Given the description of an element on the screen output the (x, y) to click on. 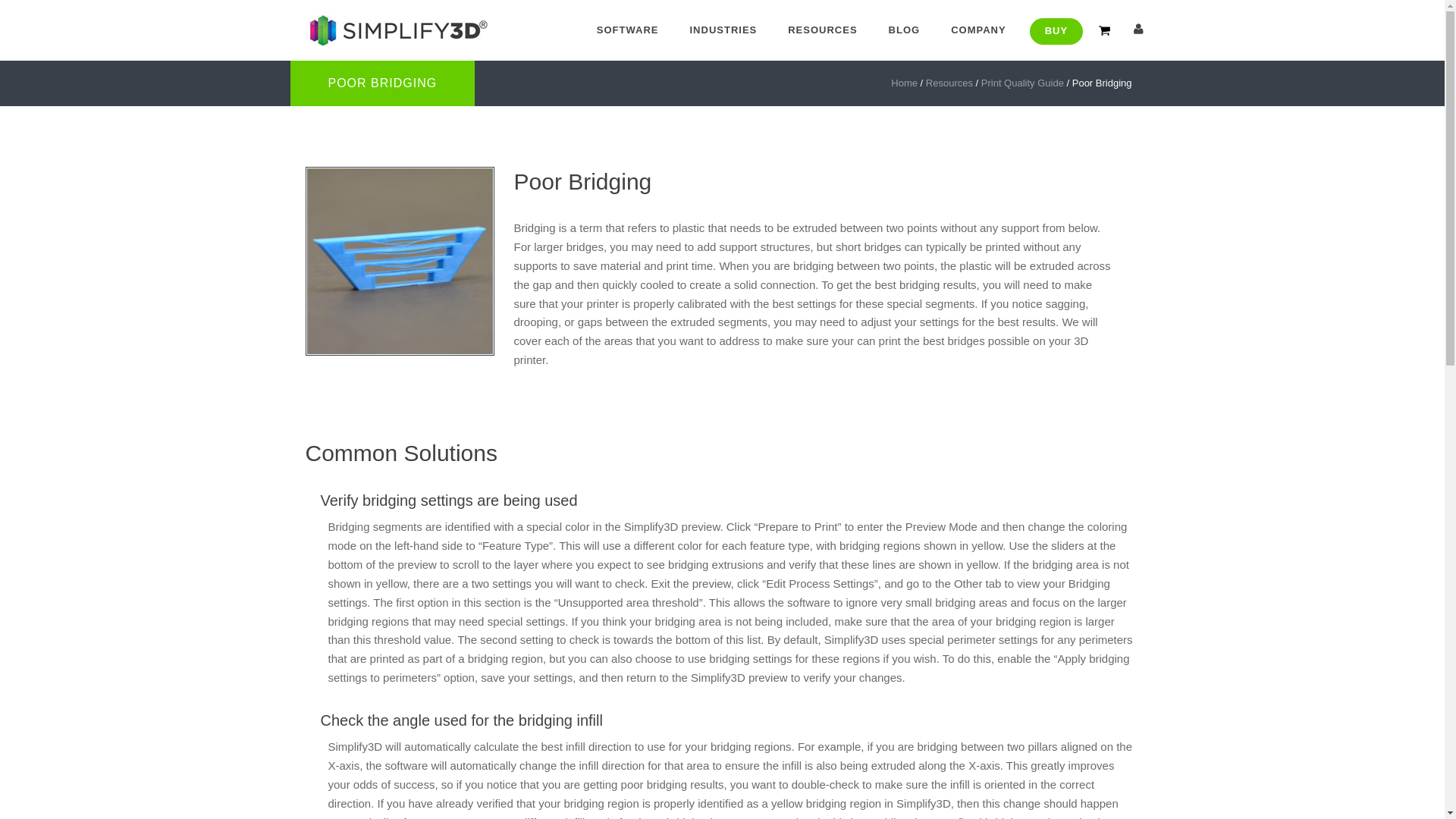
INDUSTRIES (724, 30)
RESOURCES (822, 30)
COMPANY (978, 30)
poor-bridging-1024x1024 (398, 261)
BUY (1056, 31)
All-In-One 3D Printing Software (395, 30)
SOFTWARE (627, 30)
SOFTWARE (627, 30)
RESOURCES (822, 30)
BLOG (904, 30)
BUY (1056, 31)
COMPANY (978, 30)
INDUSTRIES (724, 30)
BLOG (904, 30)
